Given the description of an element on the screen output the (x, y) to click on. 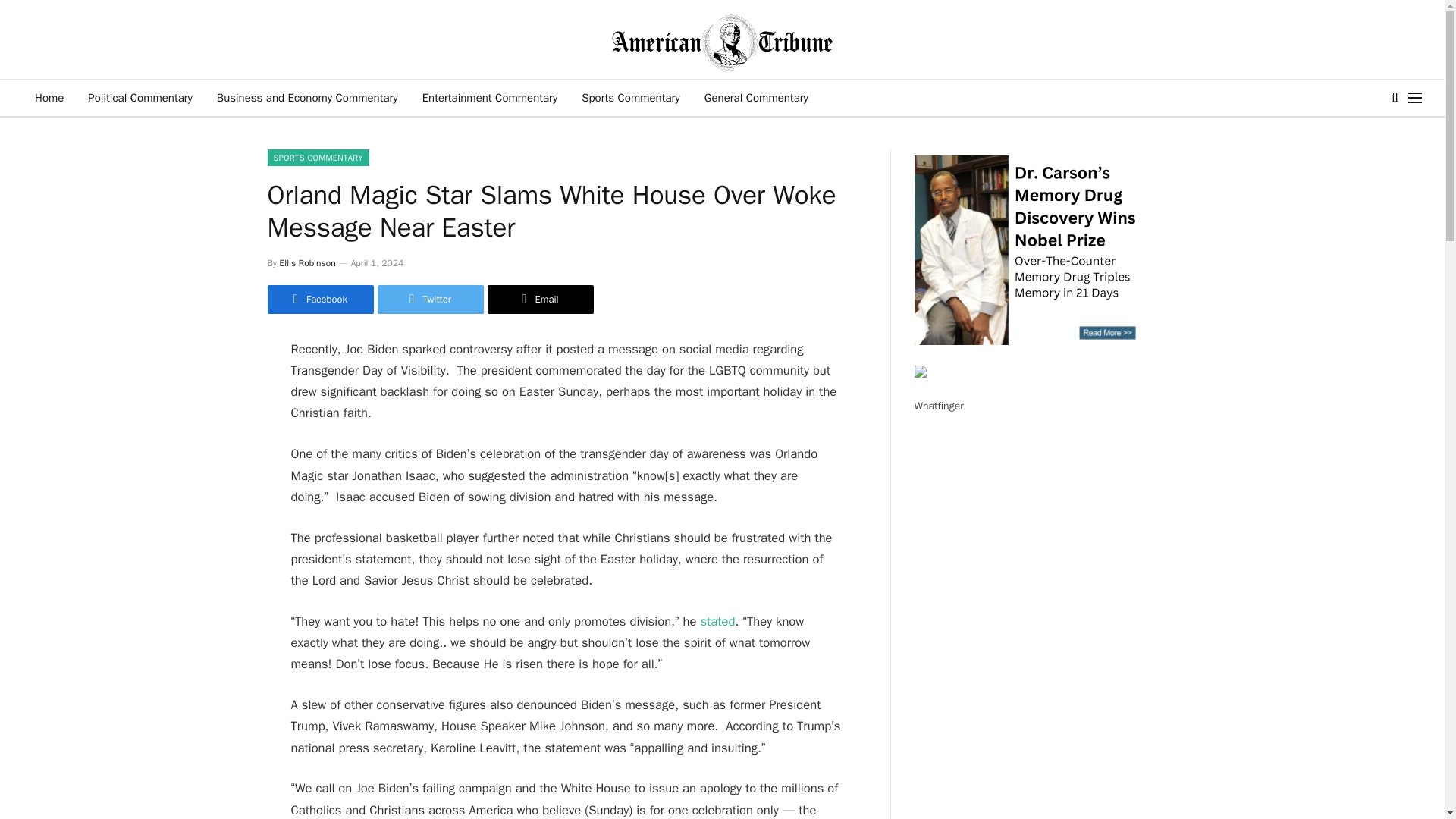
Email (539, 299)
Ellis Robinson (307, 263)
Share via Email (539, 299)
SPORTS COMMENTARY (317, 157)
Home (49, 97)
General Commentary (757, 97)
Sports Commentary (630, 97)
Business and Economy Commentary (307, 97)
The American Tribune.com (721, 41)
Entertainment Commentary (490, 97)
